Given the description of an element on the screen output the (x, y) to click on. 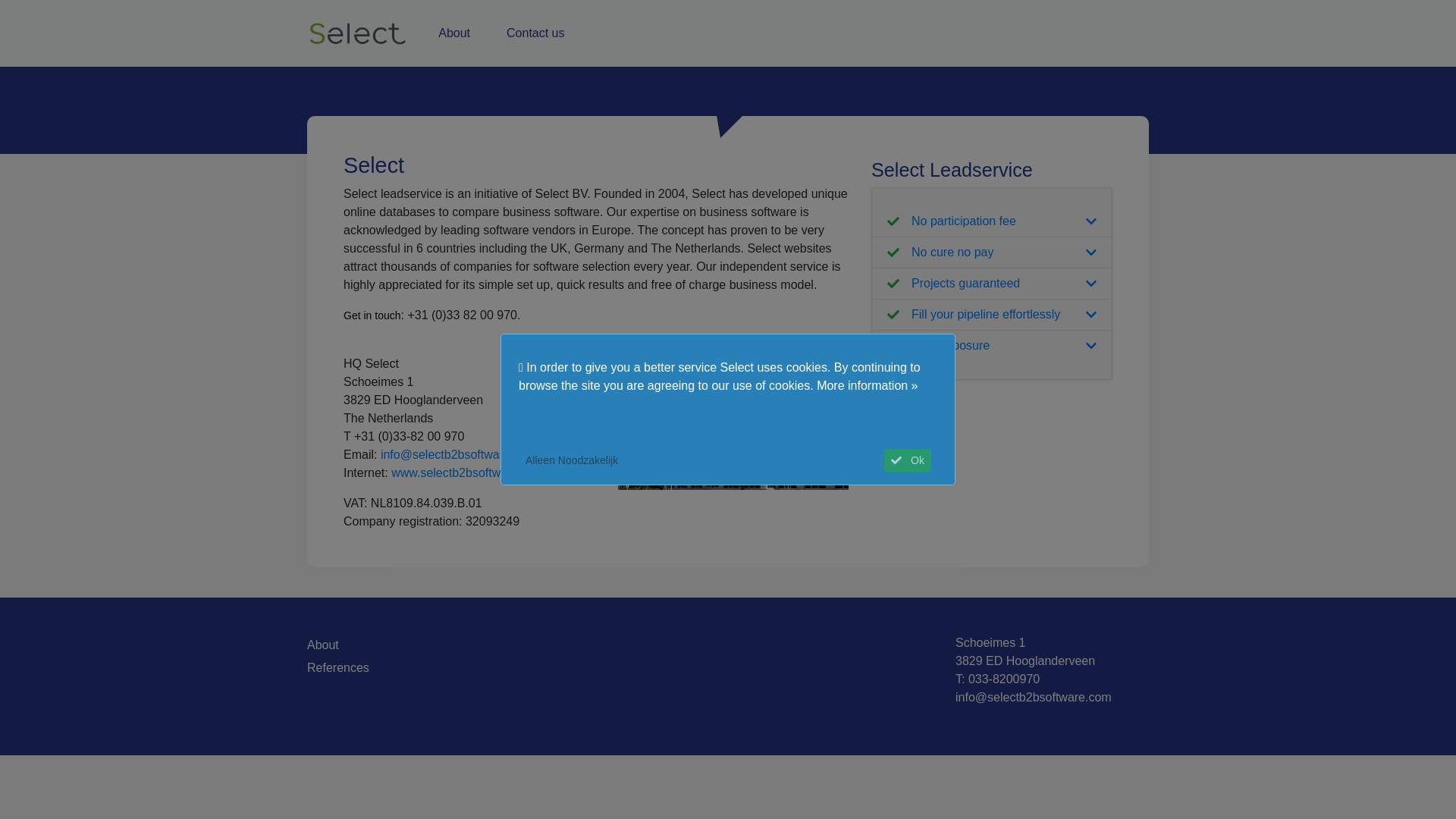
Alleen Noodzakelijk (571, 460)
No participation fee (991, 212)
References (620, 667)
Ok (907, 460)
About (453, 32)
www.selectb2bsoftware.com (467, 472)
Projects guaranteed (991, 283)
About (620, 644)
Contact us (534, 32)
Fill your pipeline effortlessly (991, 314)
